Given the description of an element on the screen output the (x, y) to click on. 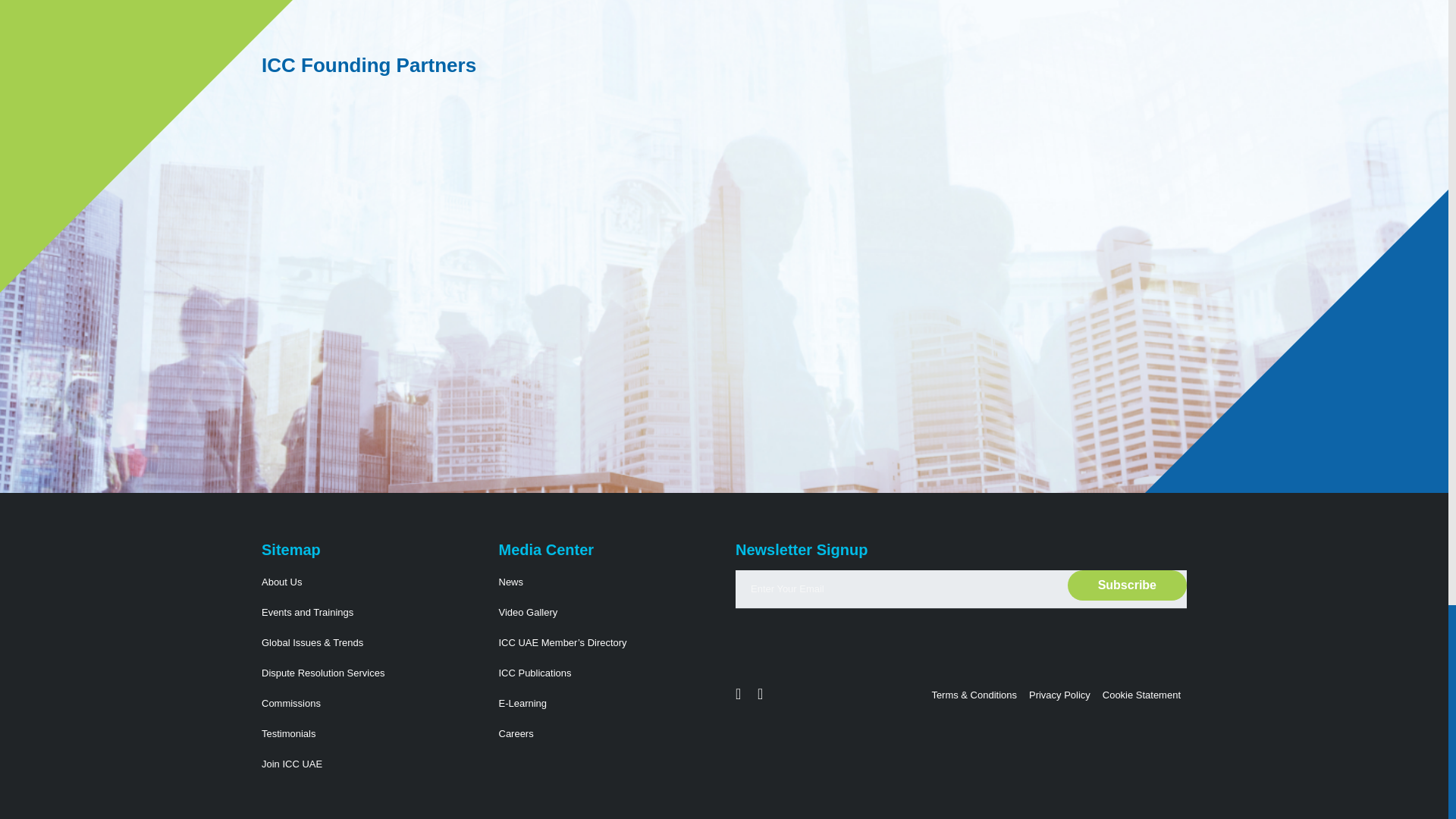
Subscribe (1126, 585)
